Given the description of an element on the screen output the (x, y) to click on. 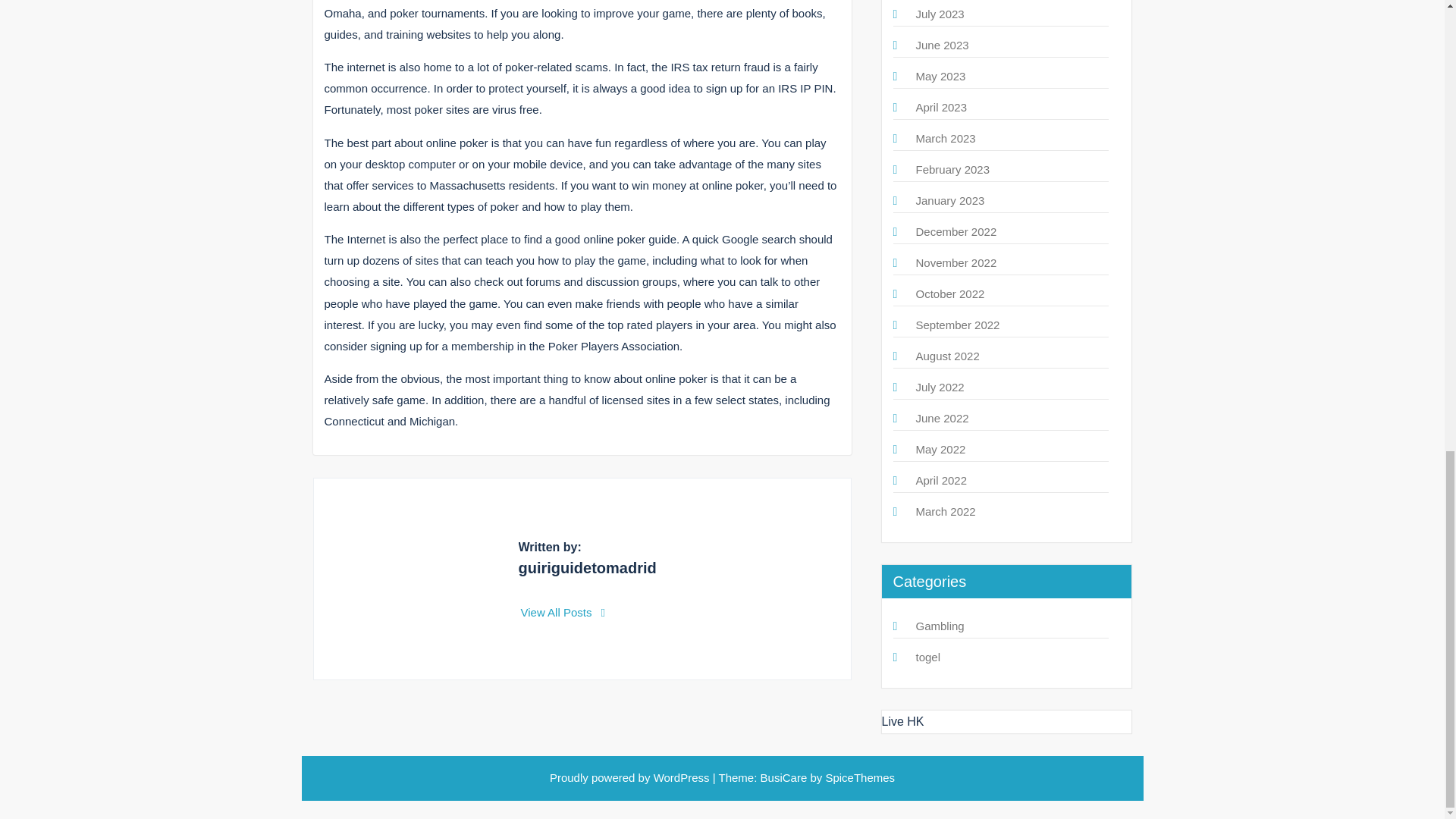
March 2023 (945, 137)
January 2023 (950, 200)
July 2023 (939, 13)
April 2023 (941, 106)
July 2022 (939, 386)
November 2022 (956, 262)
December 2022 (956, 231)
February 2023 (952, 169)
June 2022 (942, 418)
June 2023 (942, 44)
April 2022 (941, 480)
May 2022 (940, 449)
October 2022 (950, 293)
May 2023 (940, 75)
View All Posts (562, 612)
